Given the description of an element on the screen output the (x, y) to click on. 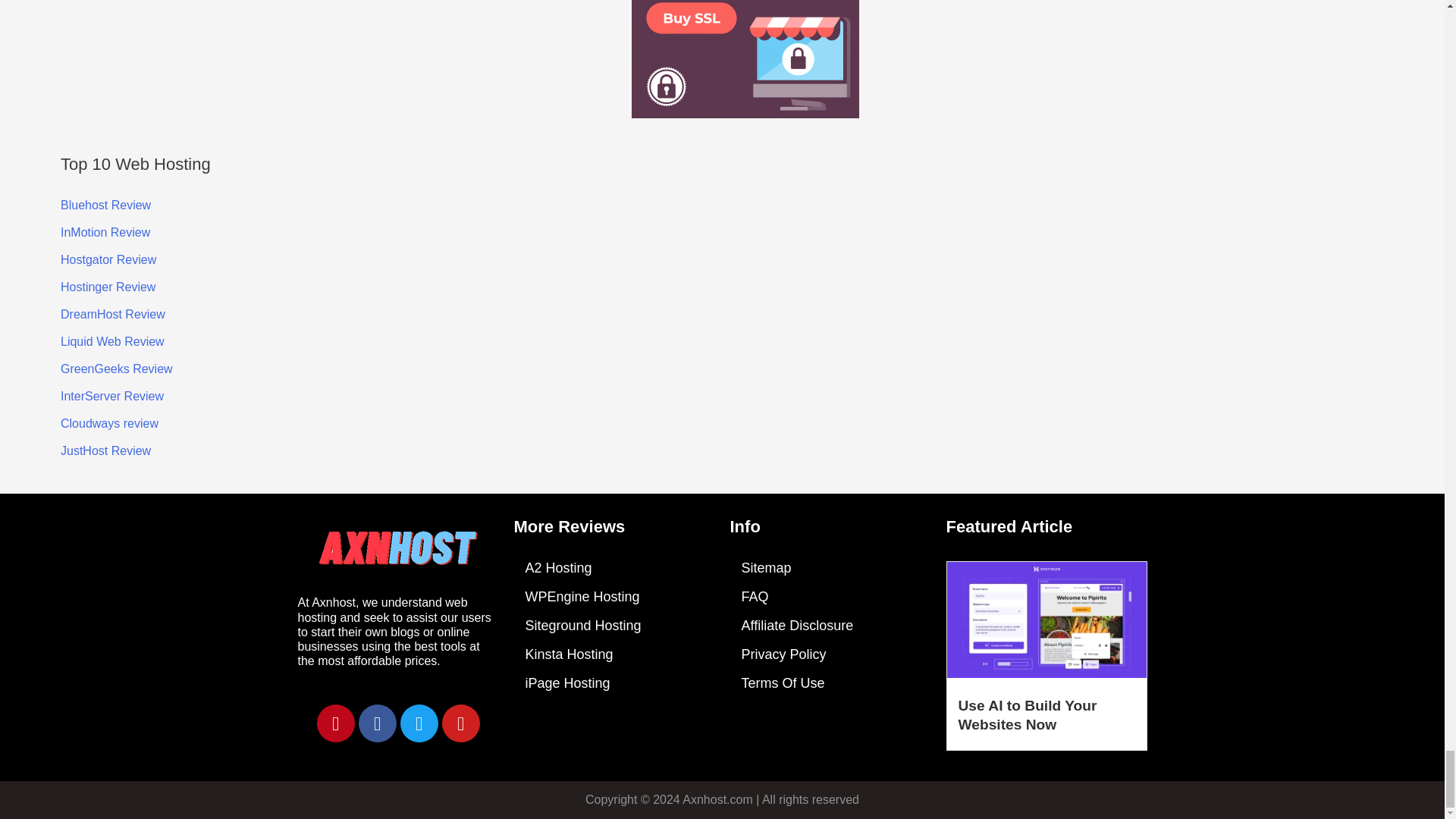
Use AI to Build Your Websites Now (1027, 714)
